Given the description of an element on the screen output the (x, y) to click on. 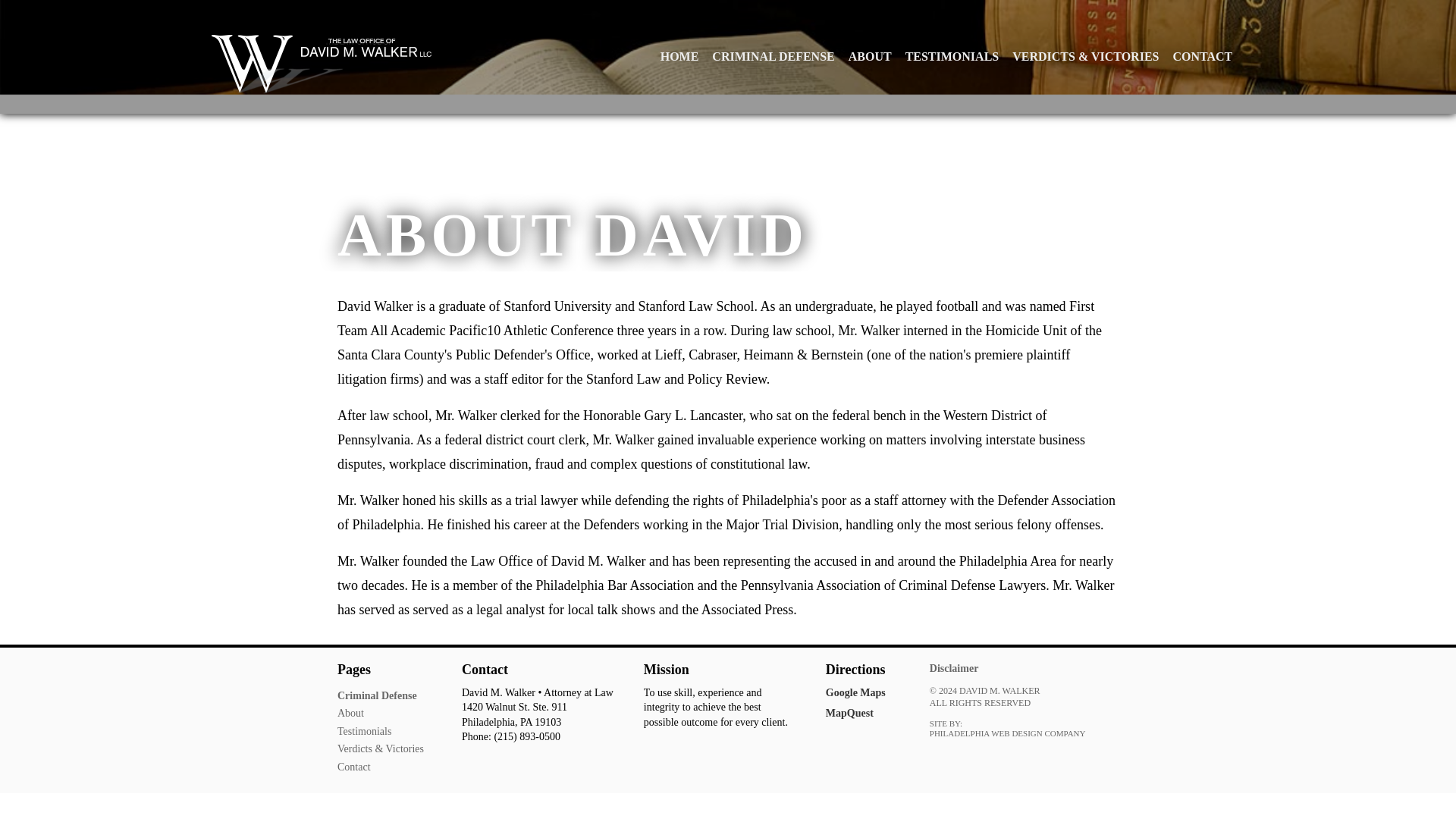
CONTACT (1202, 56)
Google Maps (855, 693)
PHILADELPHIA WEB DESIGN COMPANY (1008, 733)
CRIMINAL DEFENSE (772, 56)
MapQuest (849, 713)
ABOUT (869, 56)
Criminal Defense (376, 695)
Disclaimer (954, 668)
TESTIMONIALS (952, 56)
Contact (354, 767)
